Given the description of an element on the screen output the (x, y) to click on. 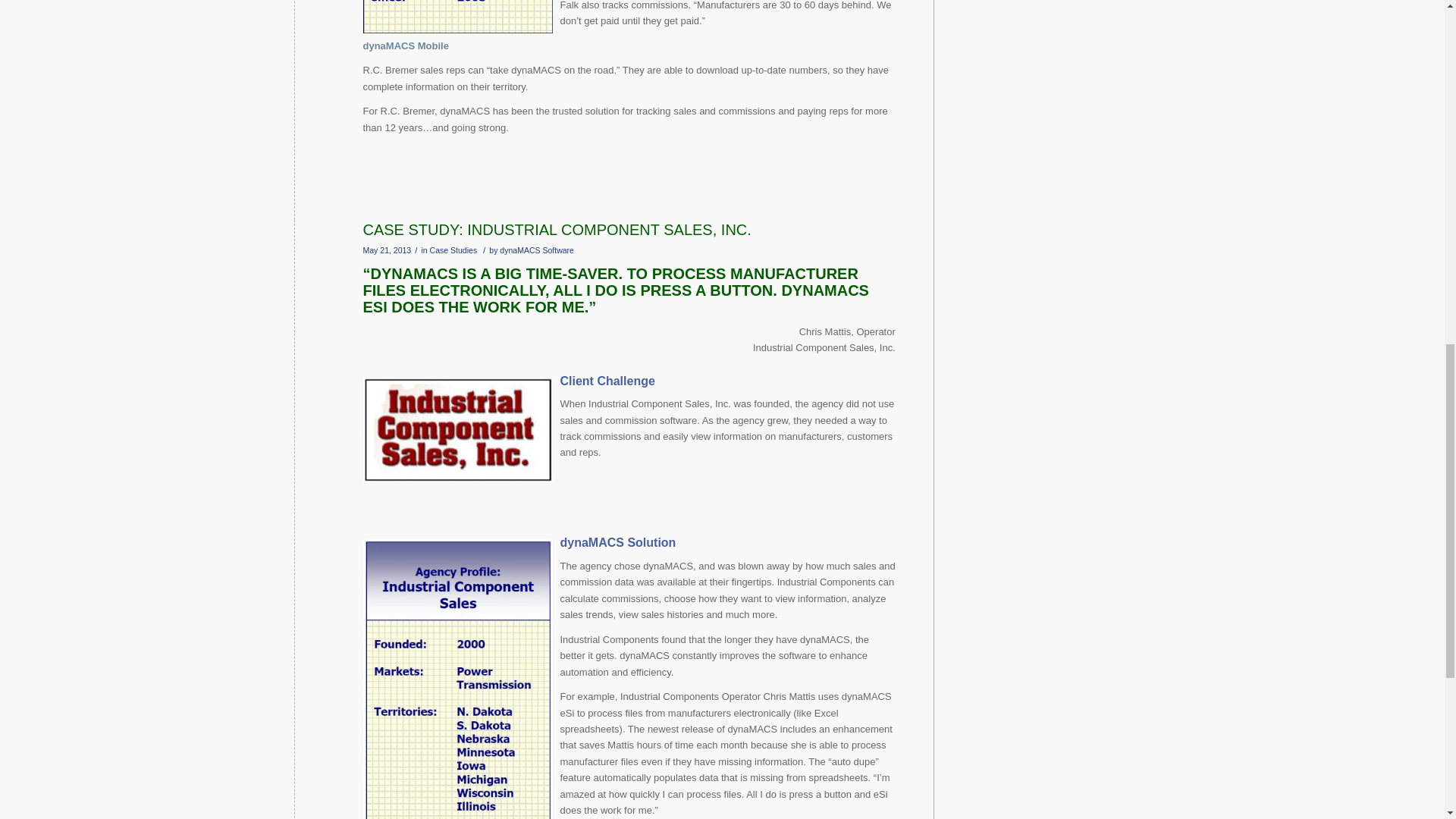
Posts by dynaMACS Software (536, 249)
